Given the description of an element on the screen output the (x, y) to click on. 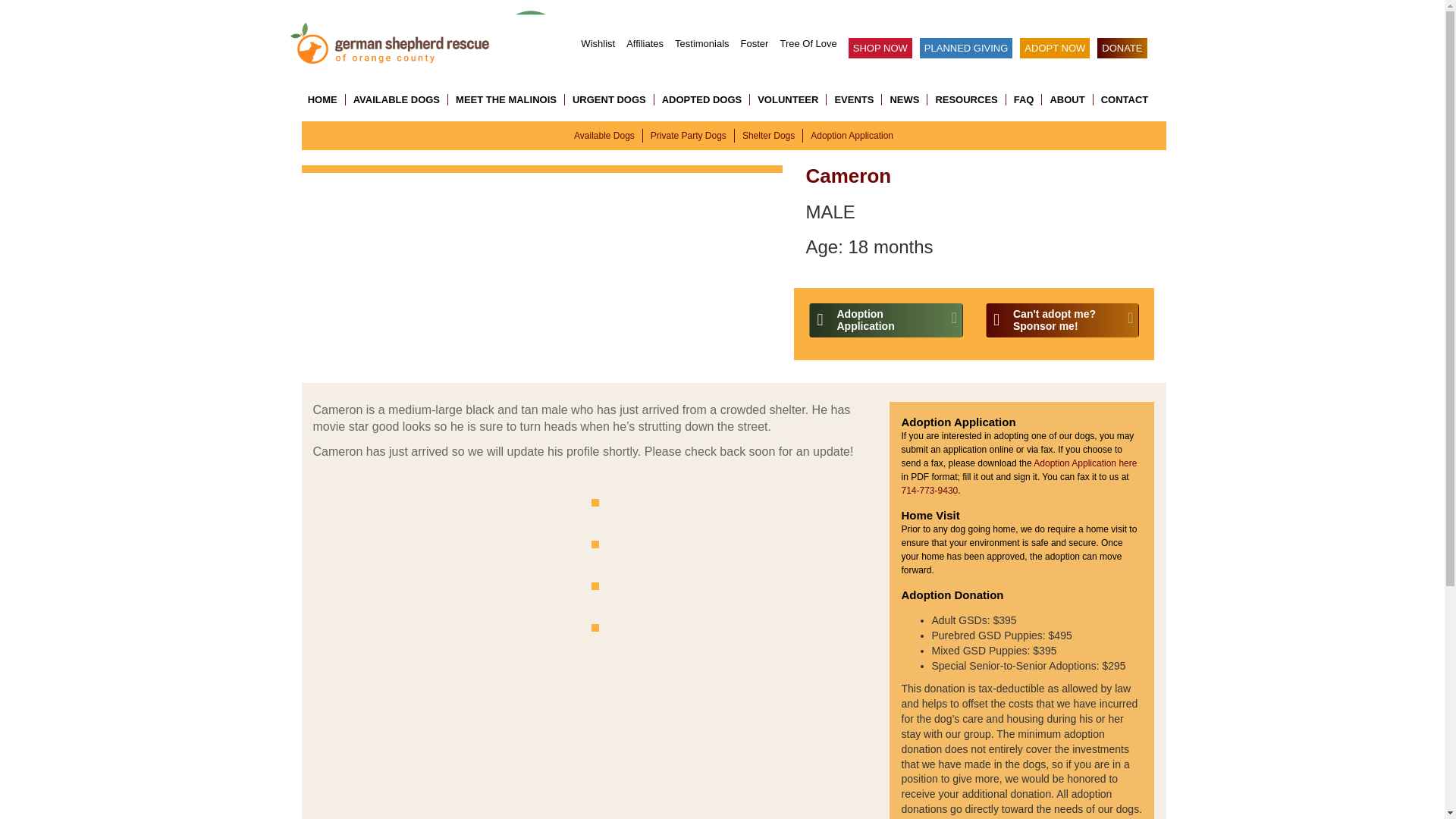
Tree Of Love (806, 43)
Wishlist (597, 43)
Adoption Application here (1085, 462)
ADOPT NOW (1054, 47)
Shelter Dogs (768, 135)
HOME (326, 99)
NEWS (904, 99)
Testimonials (702, 43)
EVENTS (854, 99)
DONATE (1122, 47)
CONTACT (1120, 99)
SHOP NOW (880, 47)
PLANNED GIVING (966, 47)
URGENT DOGS (608, 99)
